Given the description of an element on the screen output the (x, y) to click on. 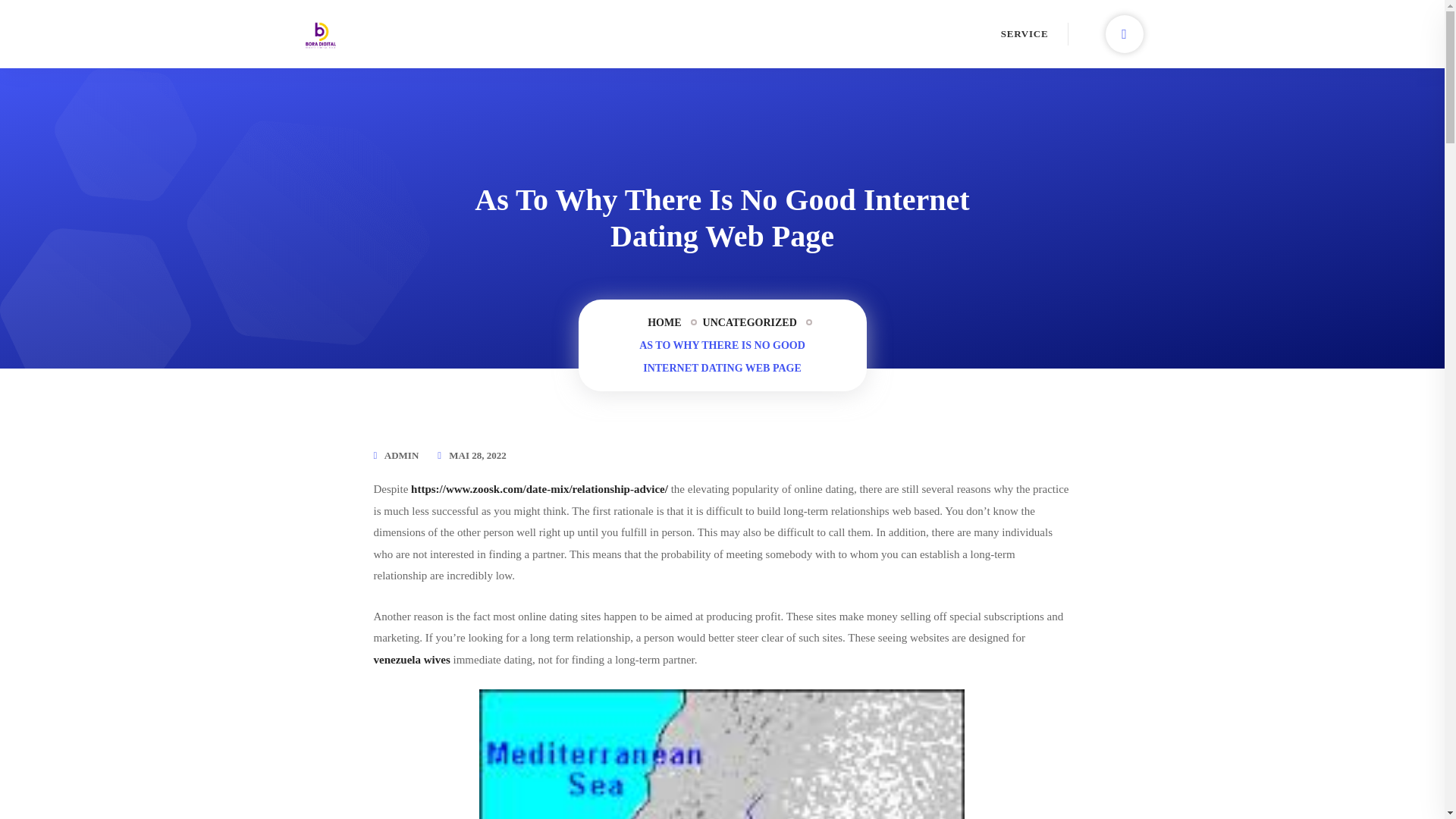
MAI 28, 2022 (476, 455)
UNCATEGORIZED (749, 323)
SERVICE (1024, 33)
HOME (664, 323)
venezuela wives (410, 659)
ADMIN (401, 455)
